Given the description of an element on the screen output the (x, y) to click on. 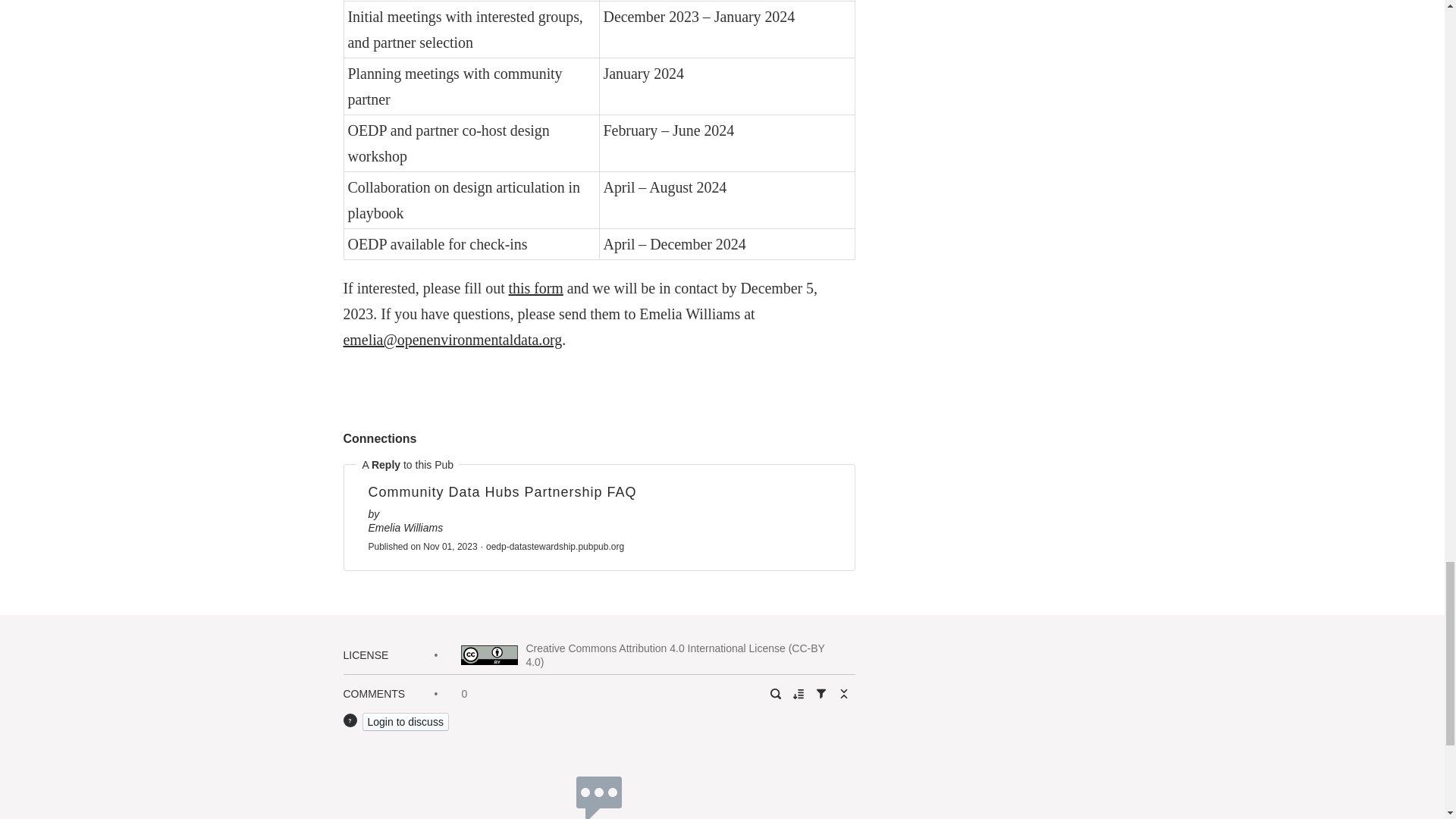
Community Data Hubs Partnership FAQ (598, 494)
Emelia Williams (406, 527)
Login to discuss (405, 721)
by (598, 513)
this form (535, 288)
